Given the description of an element on the screen output the (x, y) to click on. 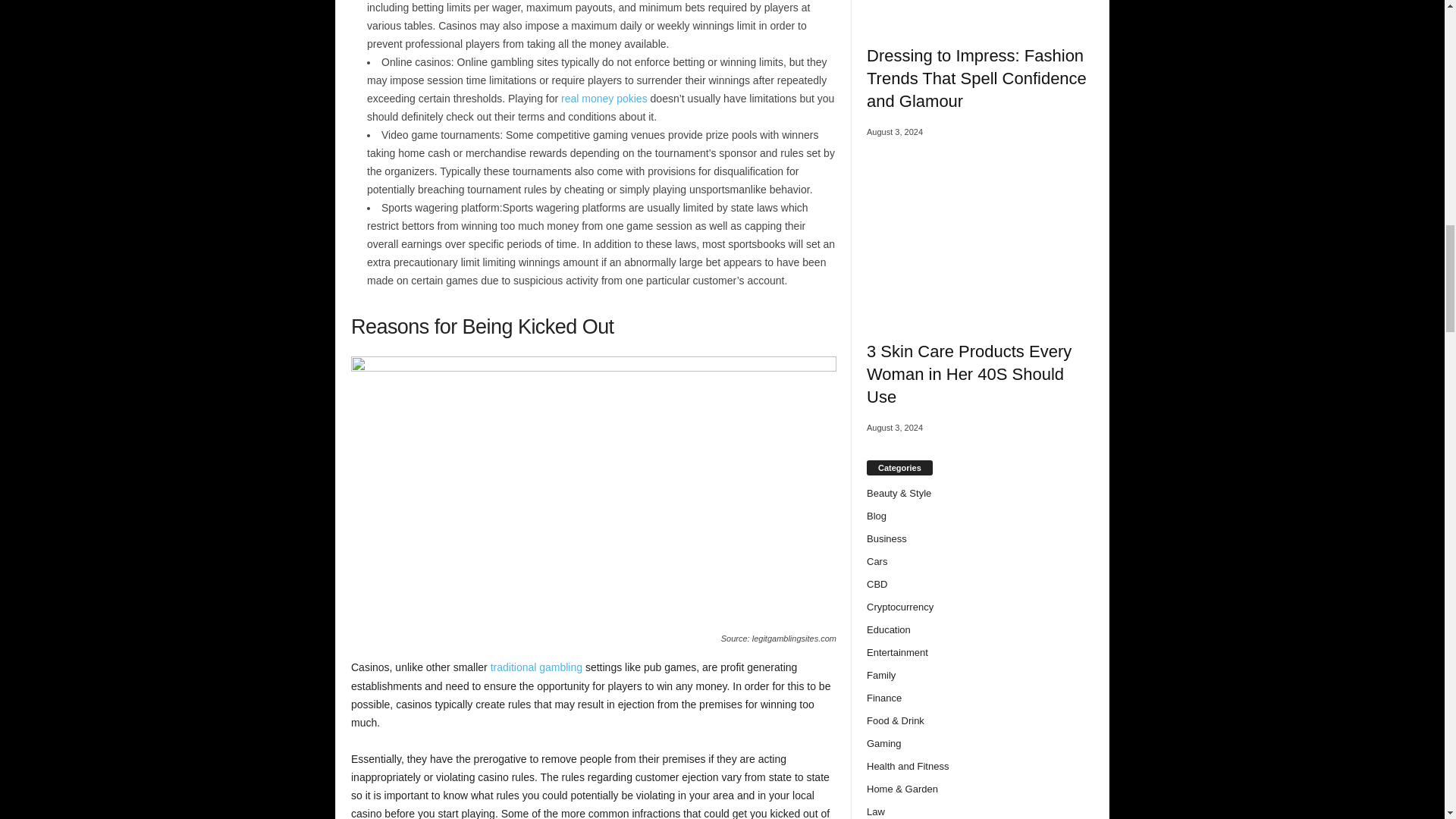
traditional gambling (536, 666)
real money pokies (603, 98)
